Given the description of an element on the screen output the (x, y) to click on. 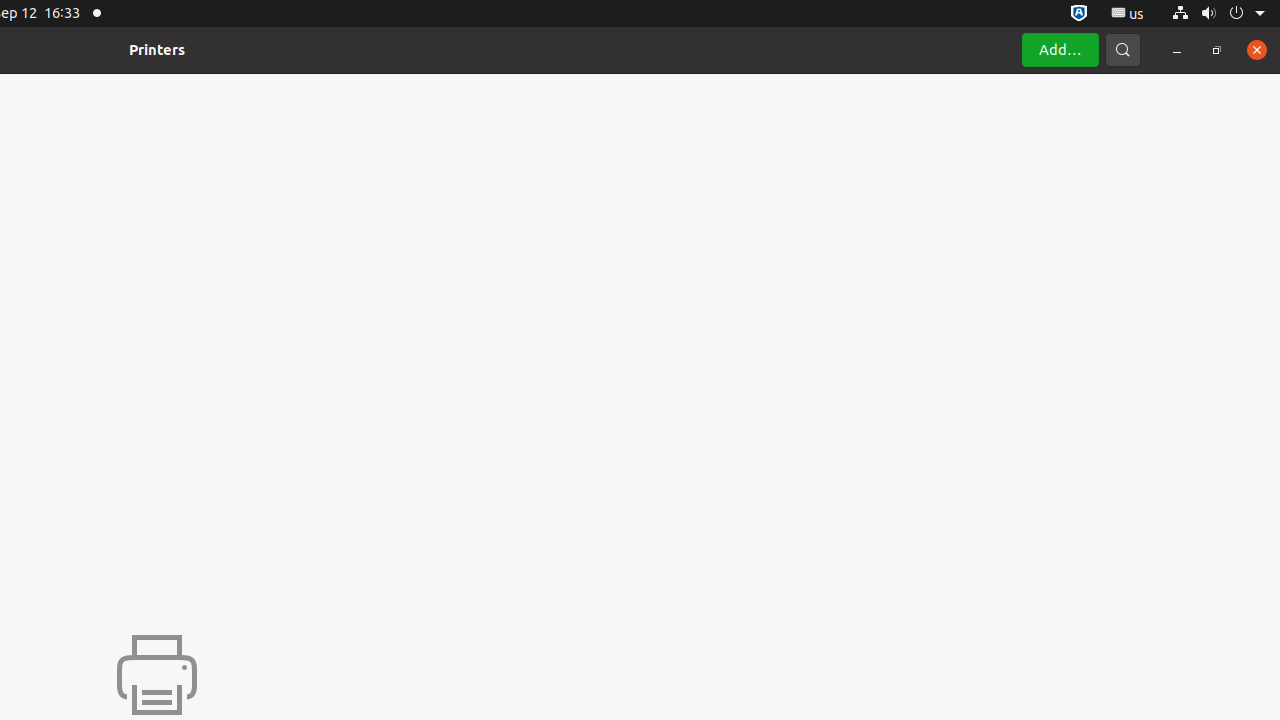
Printers Element type: label (157, 49)
Restore Element type: push-button (1217, 50)
Close Element type: push-button (1257, 50)
